Given the description of an element on the screen output the (x, y) to click on. 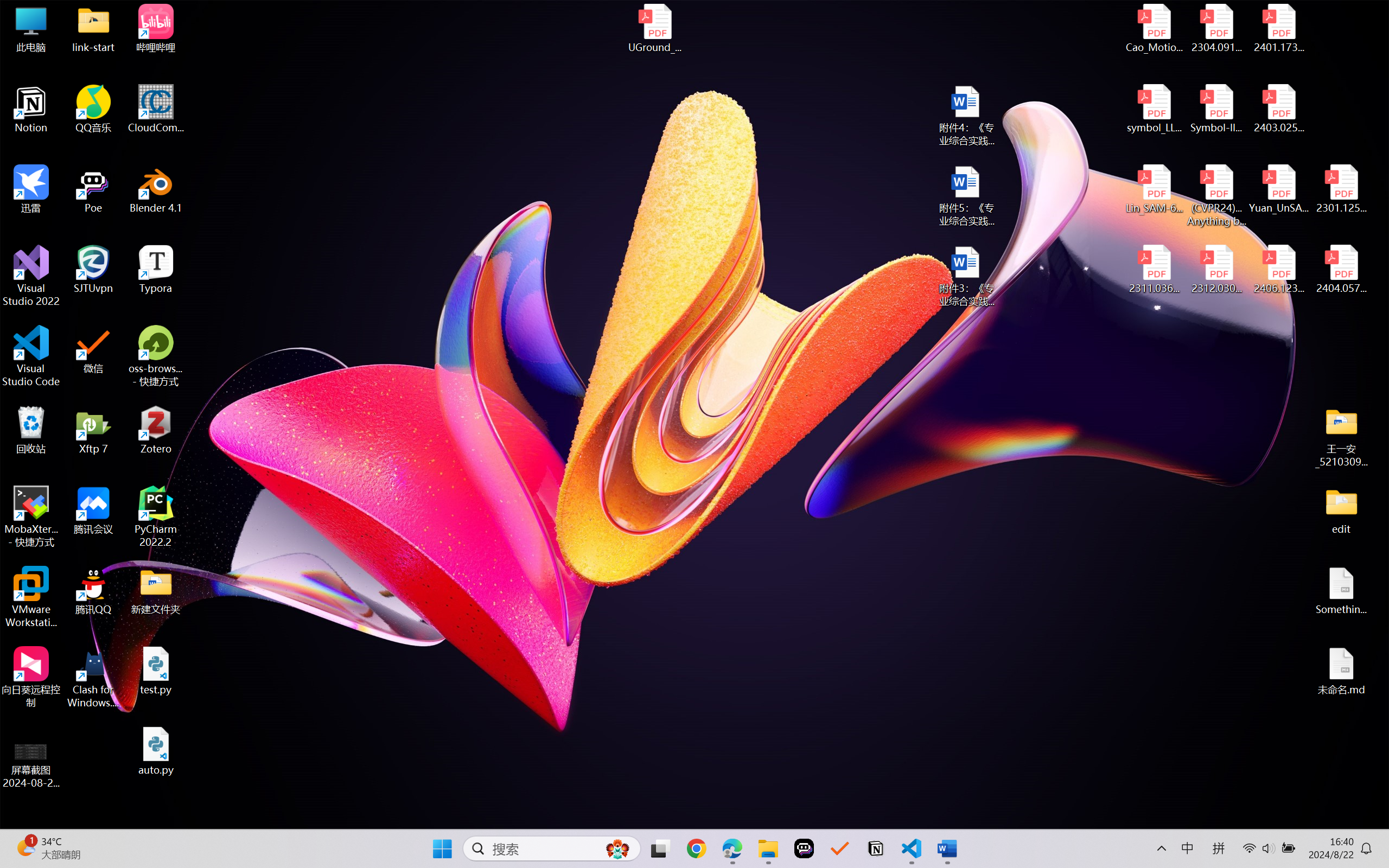
Notion (31, 109)
(CVPR24)Matching Anything by Segmenting Anything.pdf (1216, 195)
2301.12597v3.pdf (1340, 189)
2403.02502v1.pdf (1278, 109)
VMware Workstation Pro (31, 597)
2406.12373v2.pdf (1278, 269)
